Given the description of an element on the screen output the (x, y) to click on. 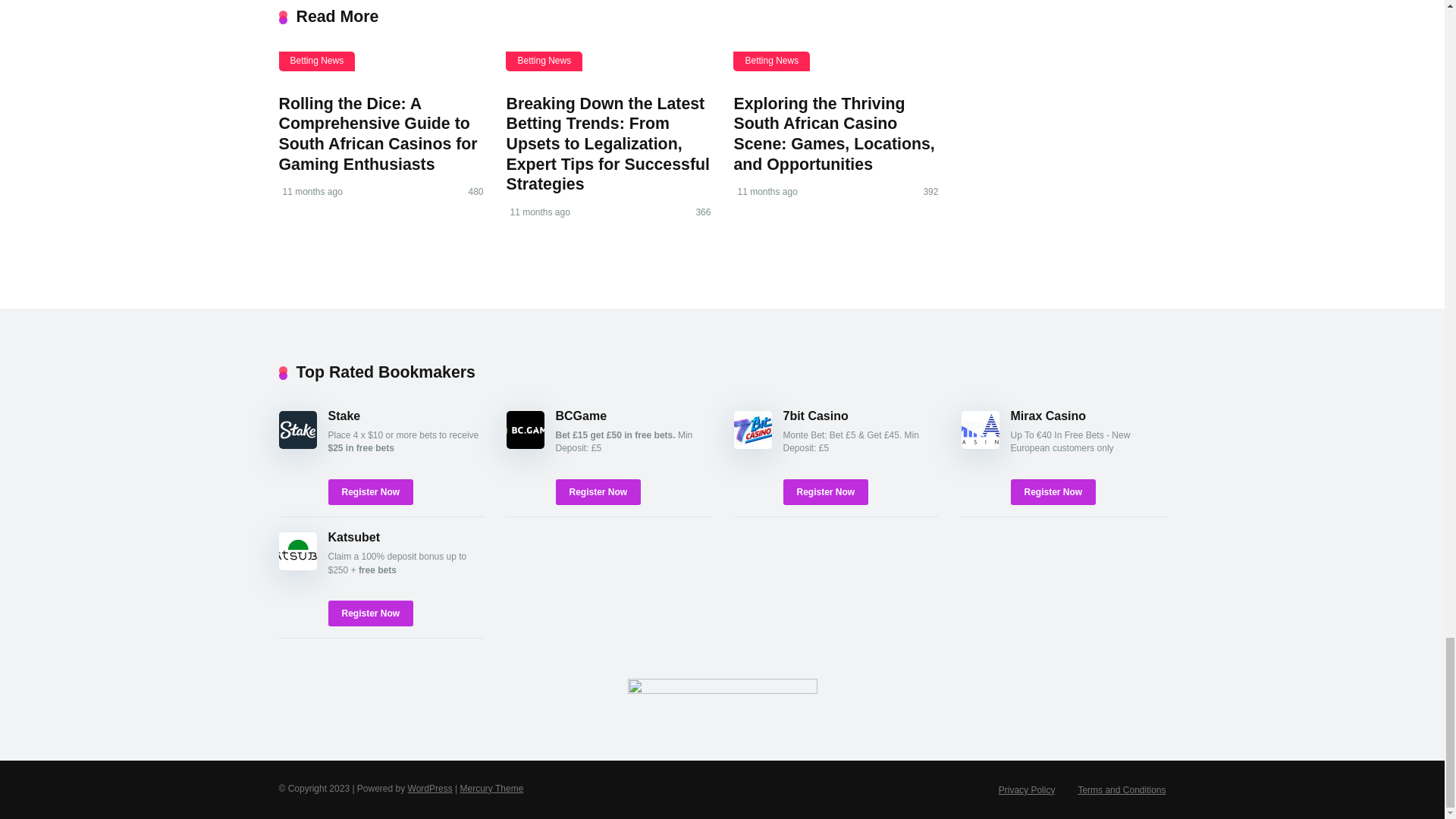
Betting News (543, 60)
Betting News (317, 60)
Betting News (771, 60)
